Given the description of an element on the screen output the (x, y) to click on. 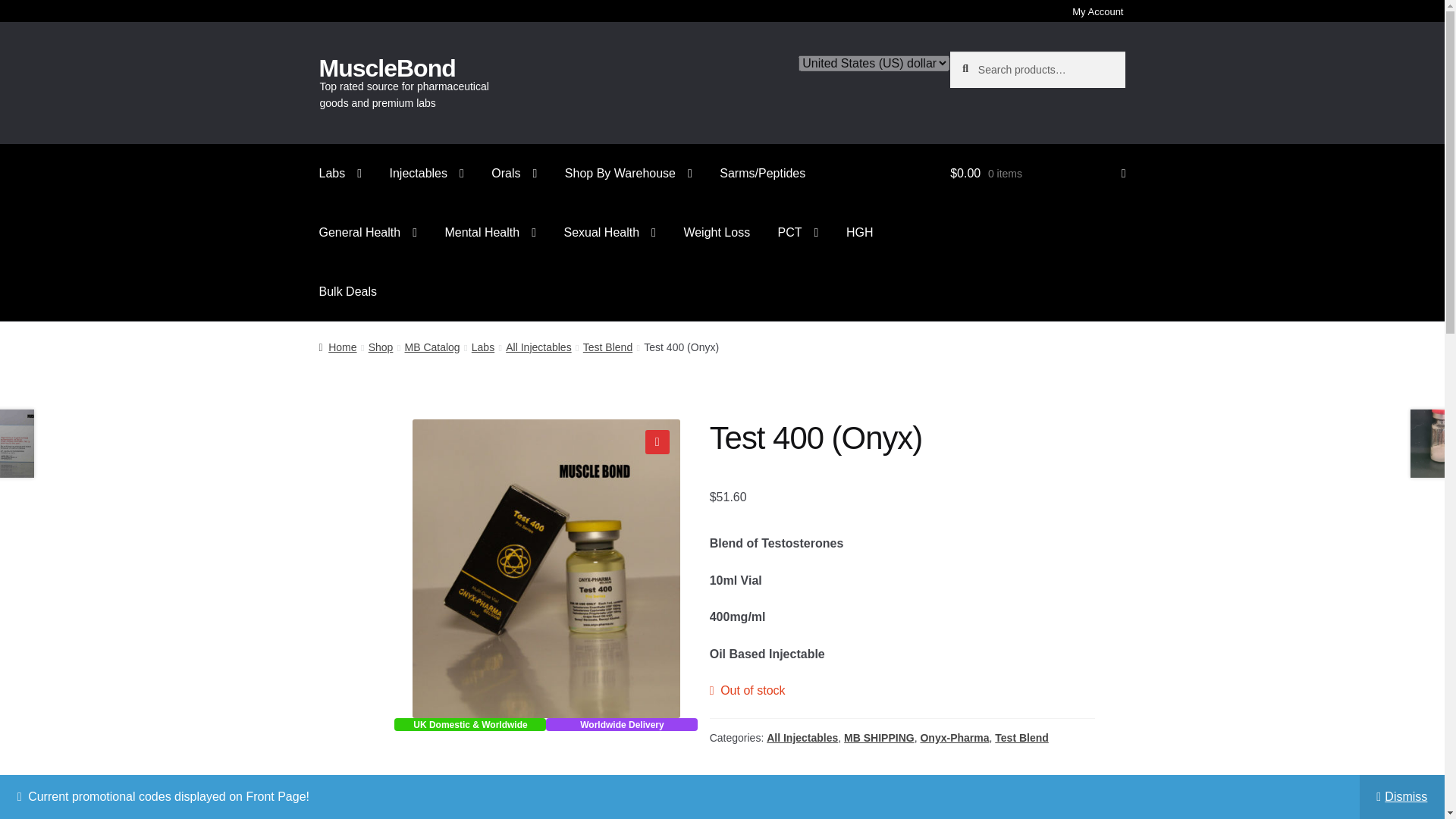
MuscleBond (386, 67)
Labs (340, 173)
My Account (1097, 13)
View your shopping cart (1037, 173)
Onyx Test 400 psd (545, 569)
